Given the description of an element on the screen output the (x, y) to click on. 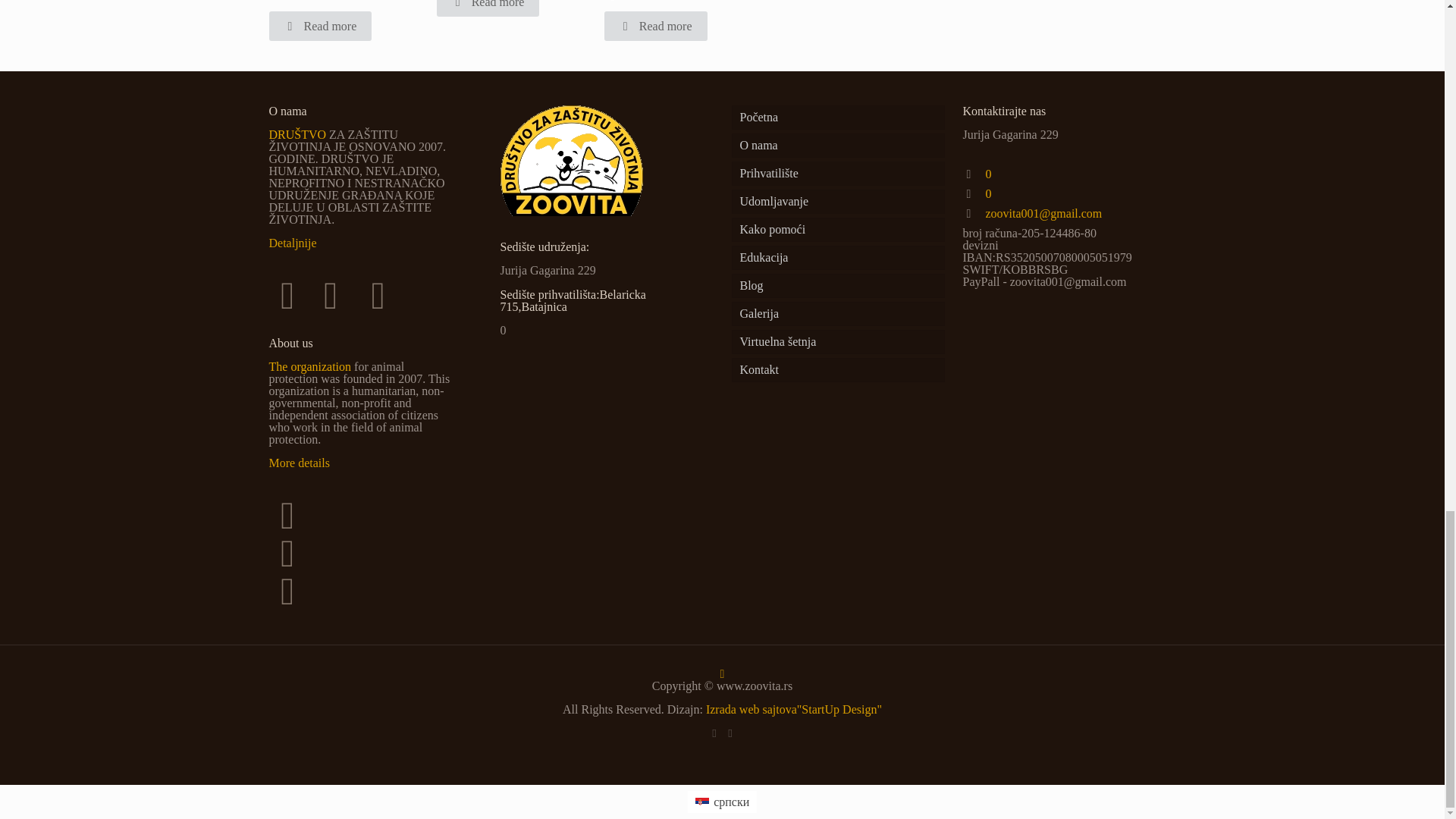
Read more (655, 25)
Read more (488, 8)
Instagram (730, 733)
Read more (319, 25)
Detaljnije (291, 242)
Facebook (713, 733)
O nama (836, 145)
More details (298, 462)
